Given the description of an element on the screen output the (x, y) to click on. 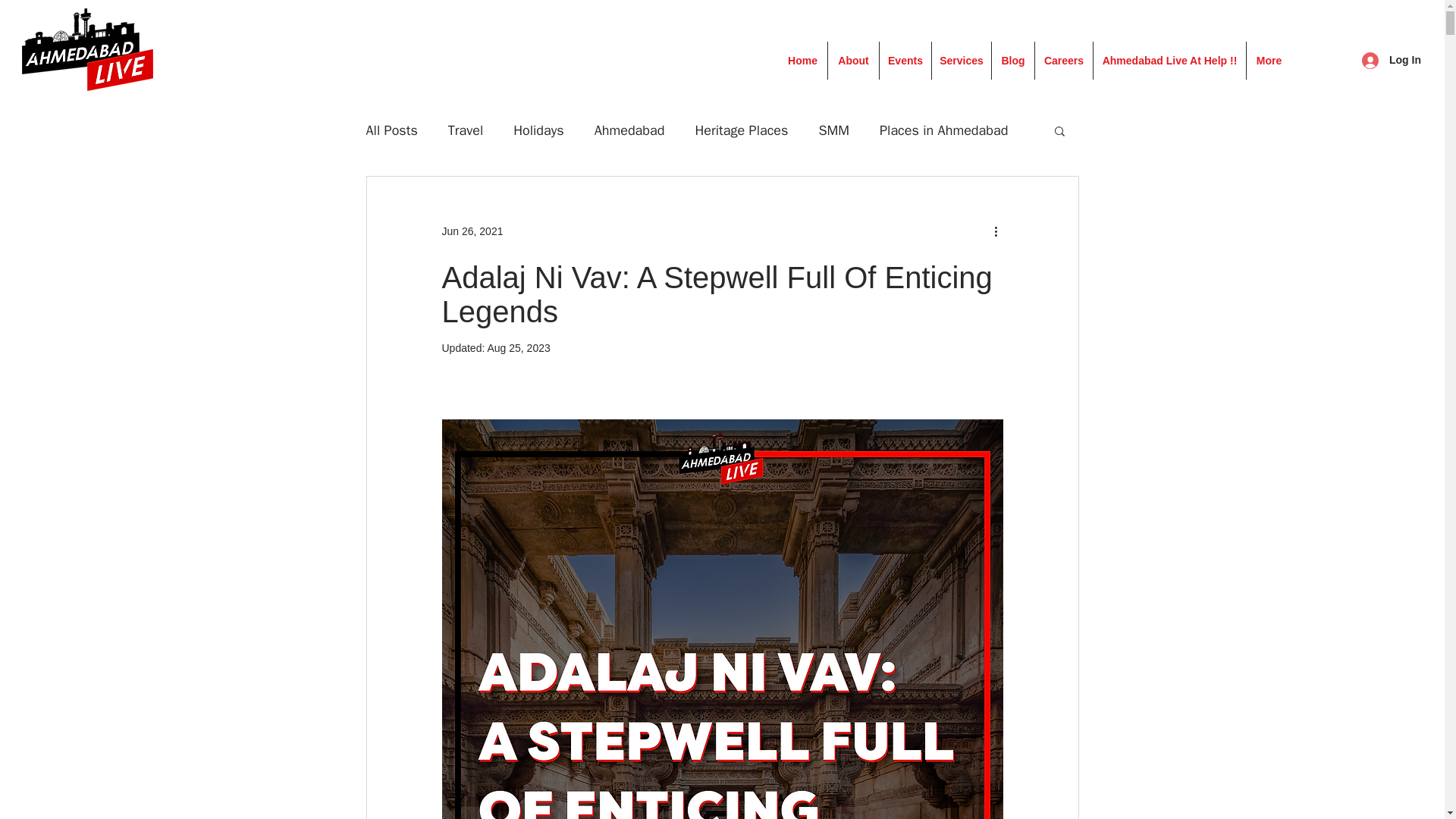
Heritage Places (740, 130)
Home (802, 60)
Travel (465, 130)
Log In (1391, 60)
Services (961, 60)
Aug 25, 2023 (518, 347)
Blog (1012, 60)
Jun 26, 2021 (471, 230)
About (853, 60)
Holidays (538, 130)
Places in Ahmedabad (943, 130)
Careers (1063, 60)
Ahmedabad Live At Help !! (1169, 60)
Events (905, 60)
Ahmedabad (629, 130)
